Given the description of an element on the screen output the (x, y) to click on. 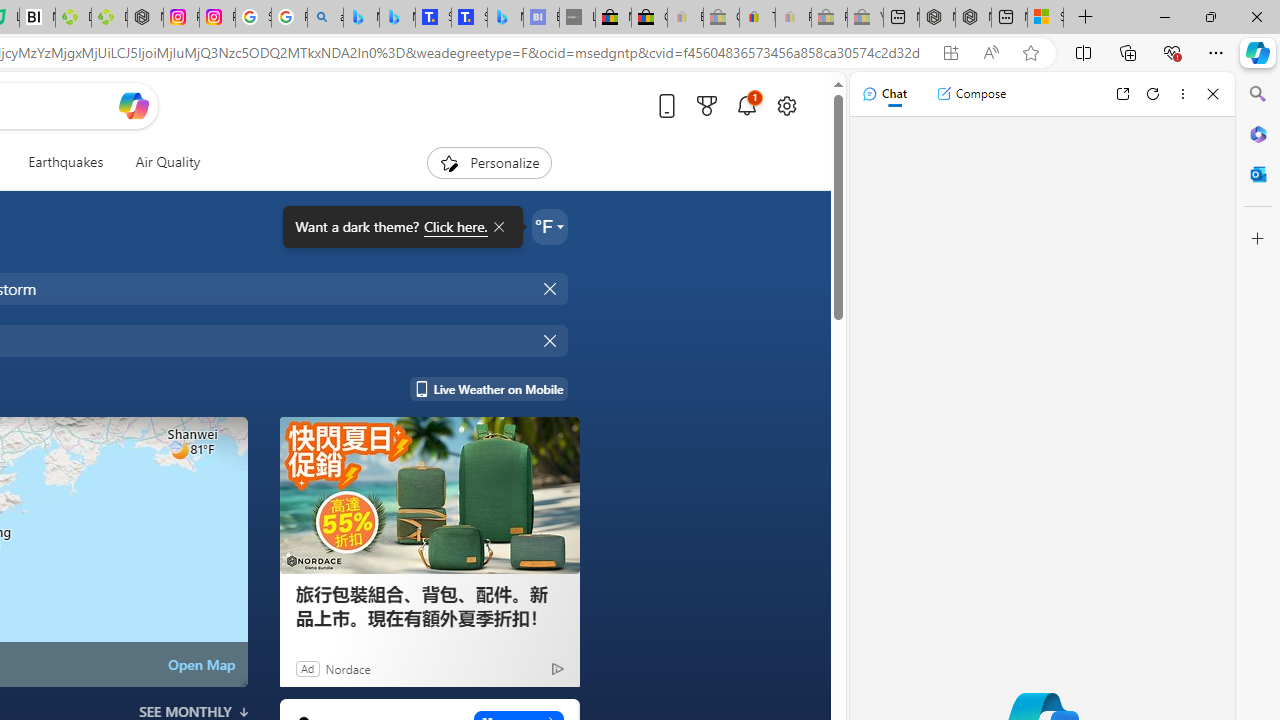
Microsoft Bing Travel - Flights from Hong Kong to Bangkok (361, 17)
alabama high school quarterback dies - Search (325, 17)
Safety in Our Products - Google Safety Center (253, 17)
Ad (306, 668)
Microsoft Bing Travel - Shangri-La Hotel Bangkok (505, 17)
Yard, Garden & Outdoor Living - Sleeping (865, 17)
Personalize (488, 162)
Weather settings Want a dark theme?Click here. (549, 226)
